Given the description of an element on the screen output the (x, y) to click on. 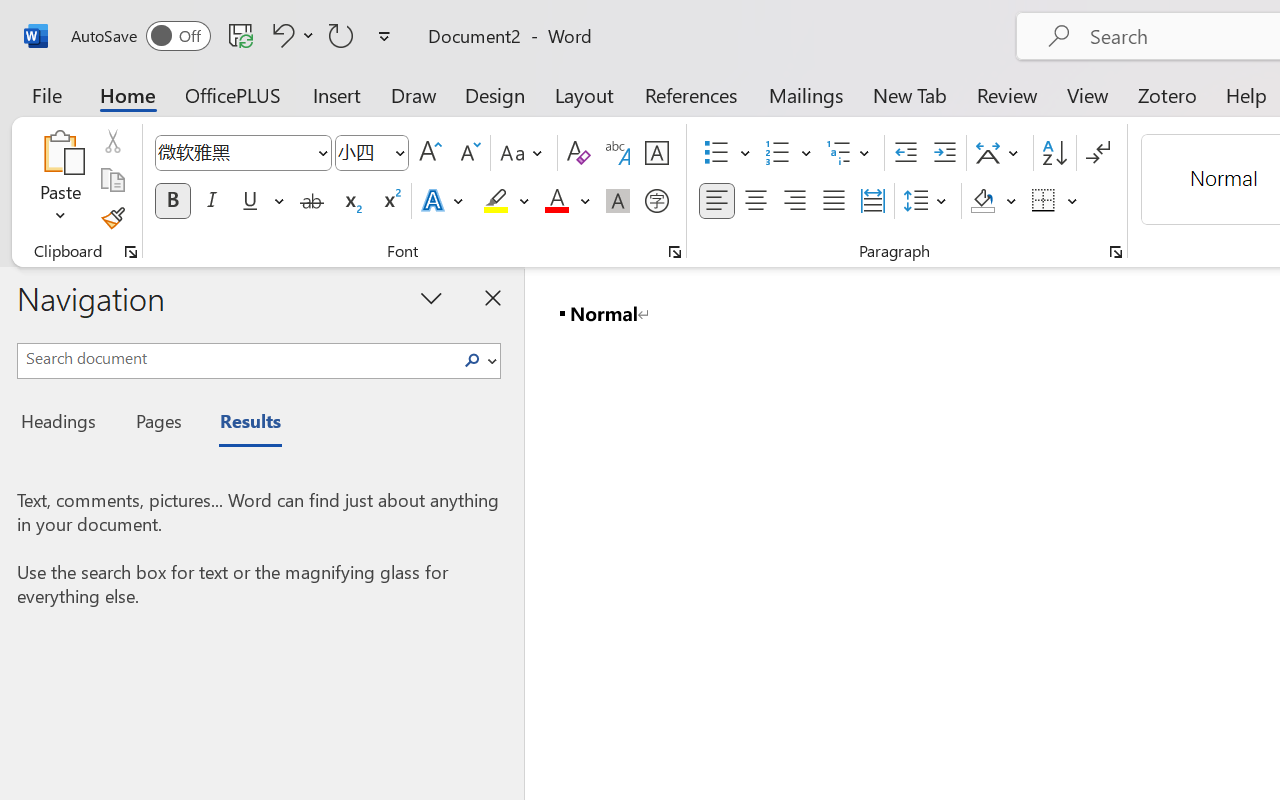
Underline (250, 201)
Font (242, 153)
Enclose Characters... (656, 201)
OfficePLUS (233, 94)
Layout (584, 94)
Align Right (794, 201)
Line and Paragraph Spacing (927, 201)
Underline (261, 201)
Pages (156, 424)
Bullets (727, 153)
Shading RGB(0, 0, 0) (982, 201)
Class: NetUIImage (471, 360)
Undo Text Fill Effect (280, 35)
Quick Access Toolbar (233, 36)
Numbering (778, 153)
